Given the description of an element on the screen output the (x, y) to click on. 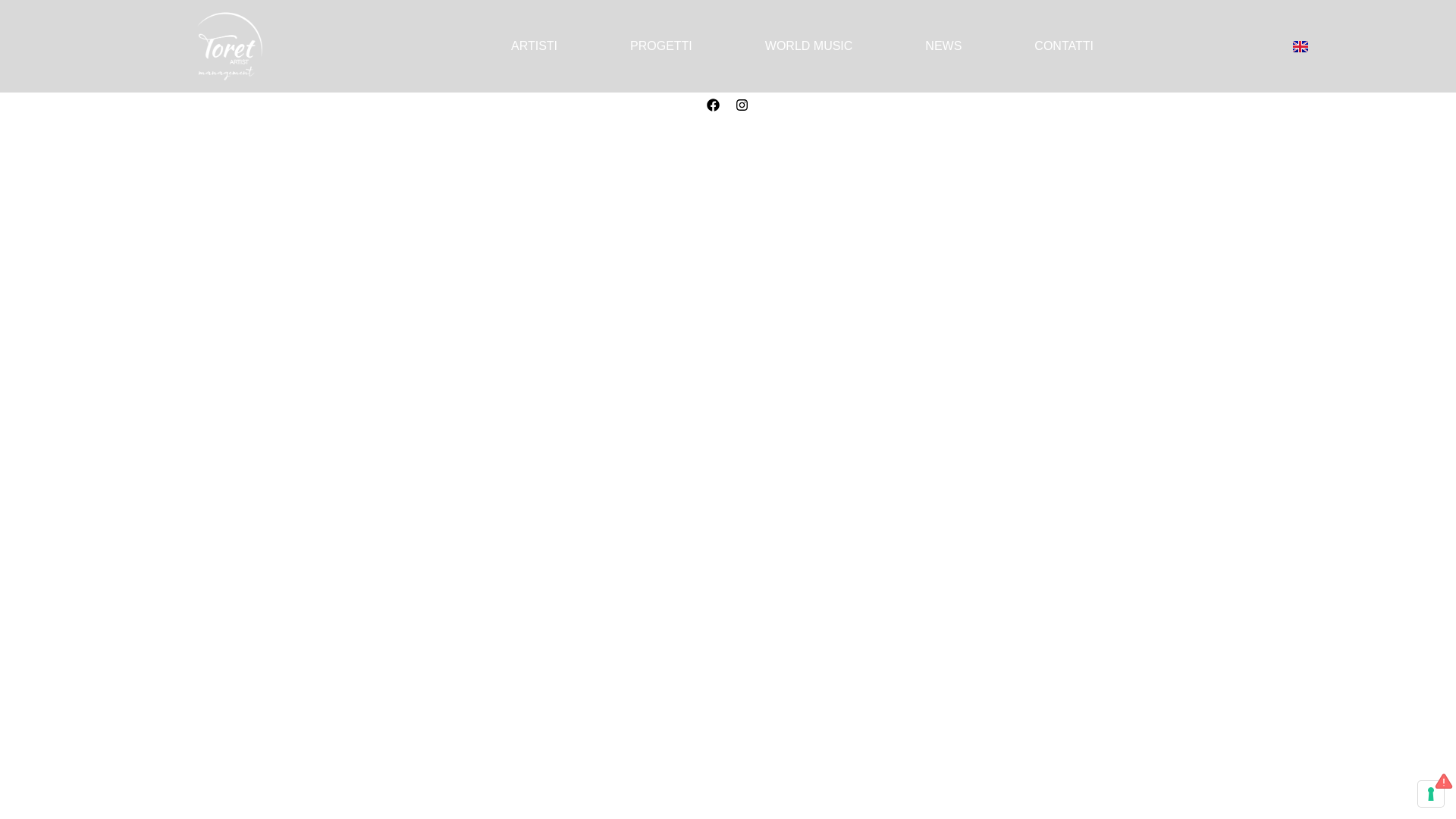
CONTATTI (1063, 45)
PROGETTI (661, 45)
Privacy Policy (633, 200)
NEWS (942, 45)
ARTISTI (534, 45)
Cookie Policy  (711, 200)
Termini e Condizioni  (805, 200)
Cookie Policy (711, 200)
WORLD MUSIC (809, 45)
Privacy Policy  (633, 200)
www.elisabettadebernardis.com (1078, 121)
Termini e Condizioni (805, 200)
